Given the description of an element on the screen output the (x, y) to click on. 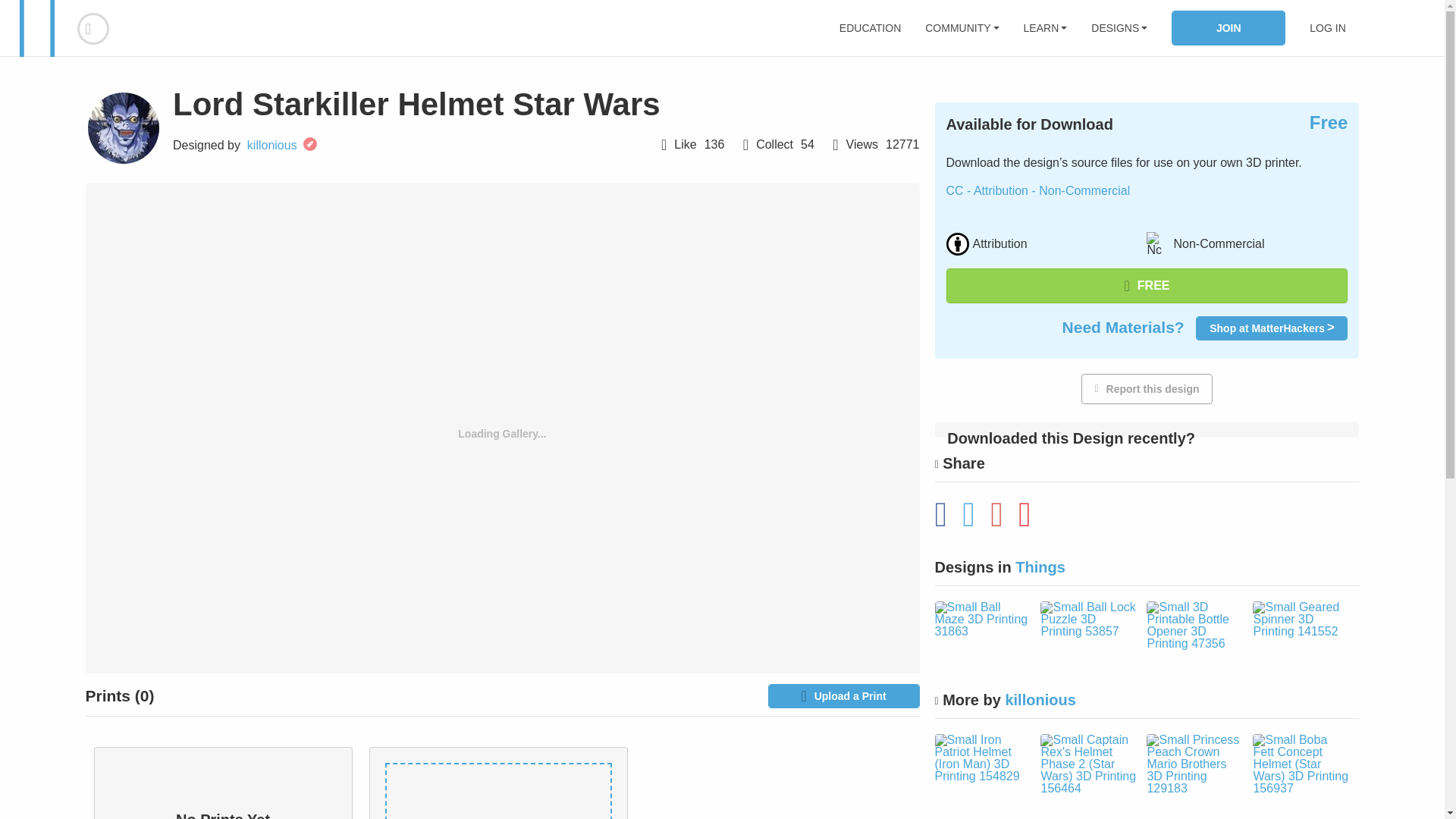
COMMUNITY (961, 28)
Small 3D Printable Bottle Opener 3D Printing 47356 (1194, 625)
Small Princess Peach Crown Mario Brothers 3D Printing 129183 (1194, 763)
LEARN (1045, 28)
View killonious's profile (122, 128)
LOG IN (1326, 28)
killonious (272, 145)
Small Ball Maze 3D Printing 31863 (981, 619)
CC - Attribution - Non-Commercial (1038, 190)
Upload a Print (842, 695)
